Given the description of an element on the screen output the (x, y) to click on. 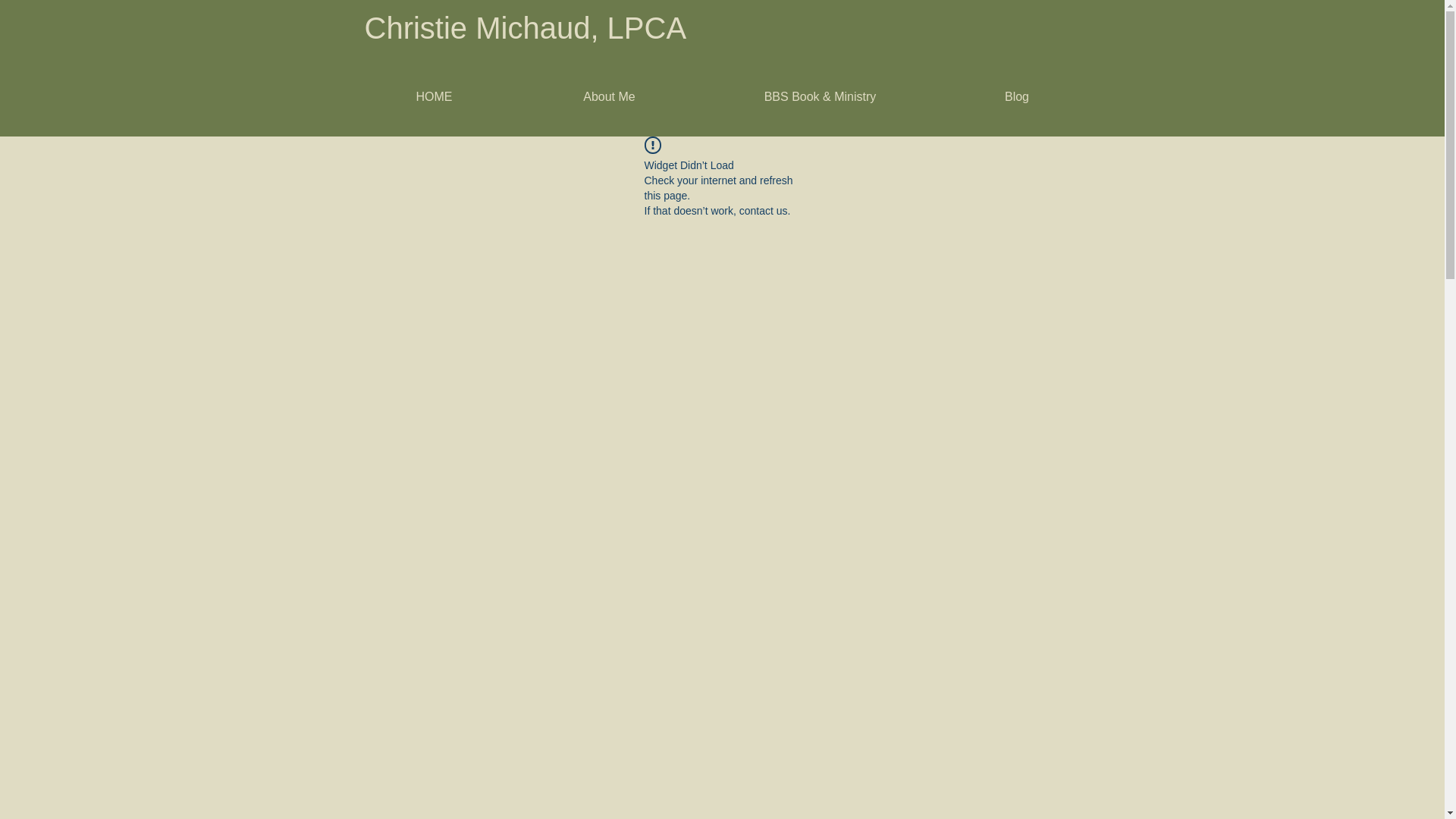
Blog (1016, 96)
! (653, 144)
HOME (433, 96)
About Me (608, 96)
